Given the description of an element on the screen output the (x, y) to click on. 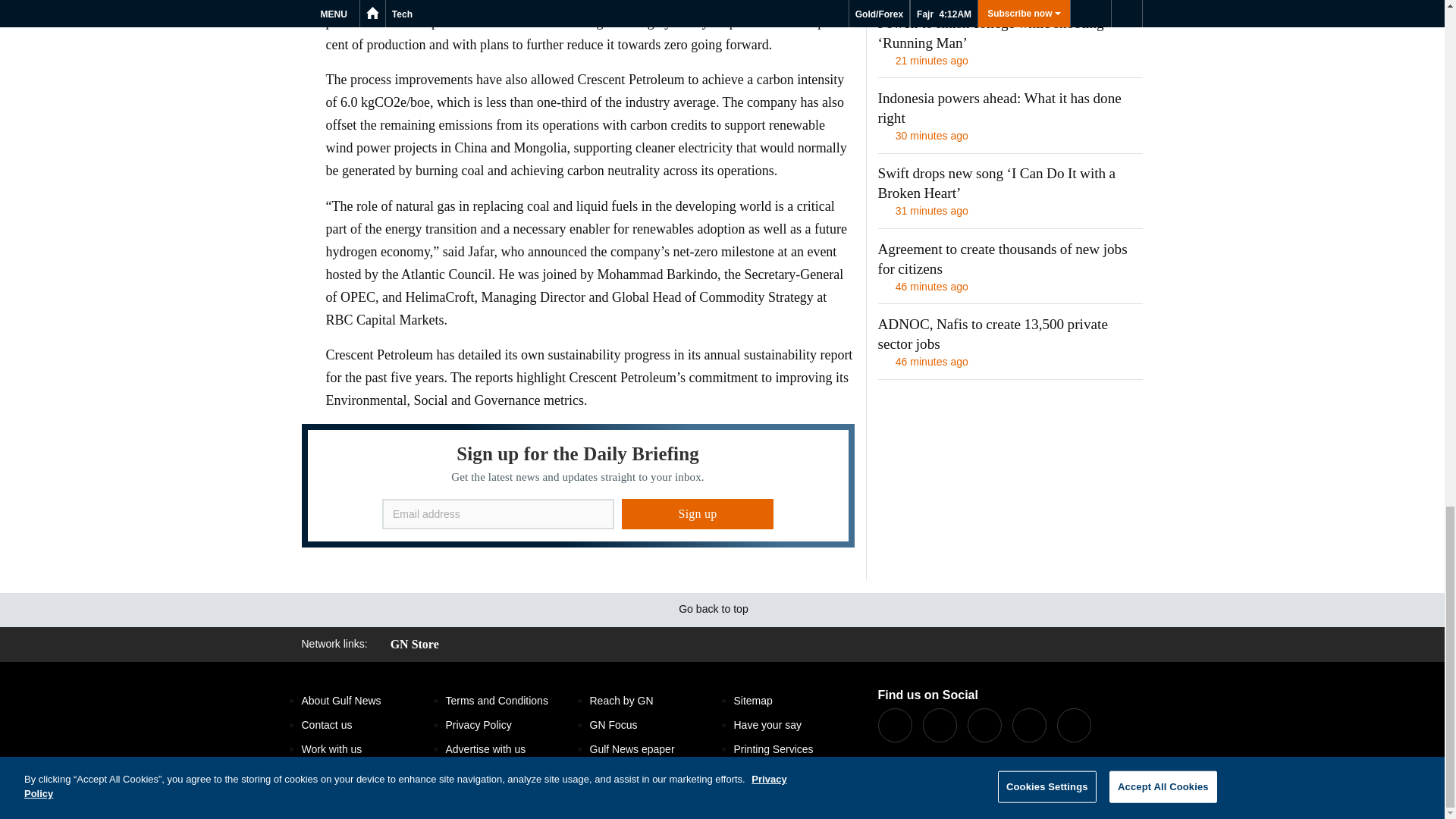
Sign up for the Daily Briefing (577, 485)
